Given the description of an element on the screen output the (x, y) to click on. 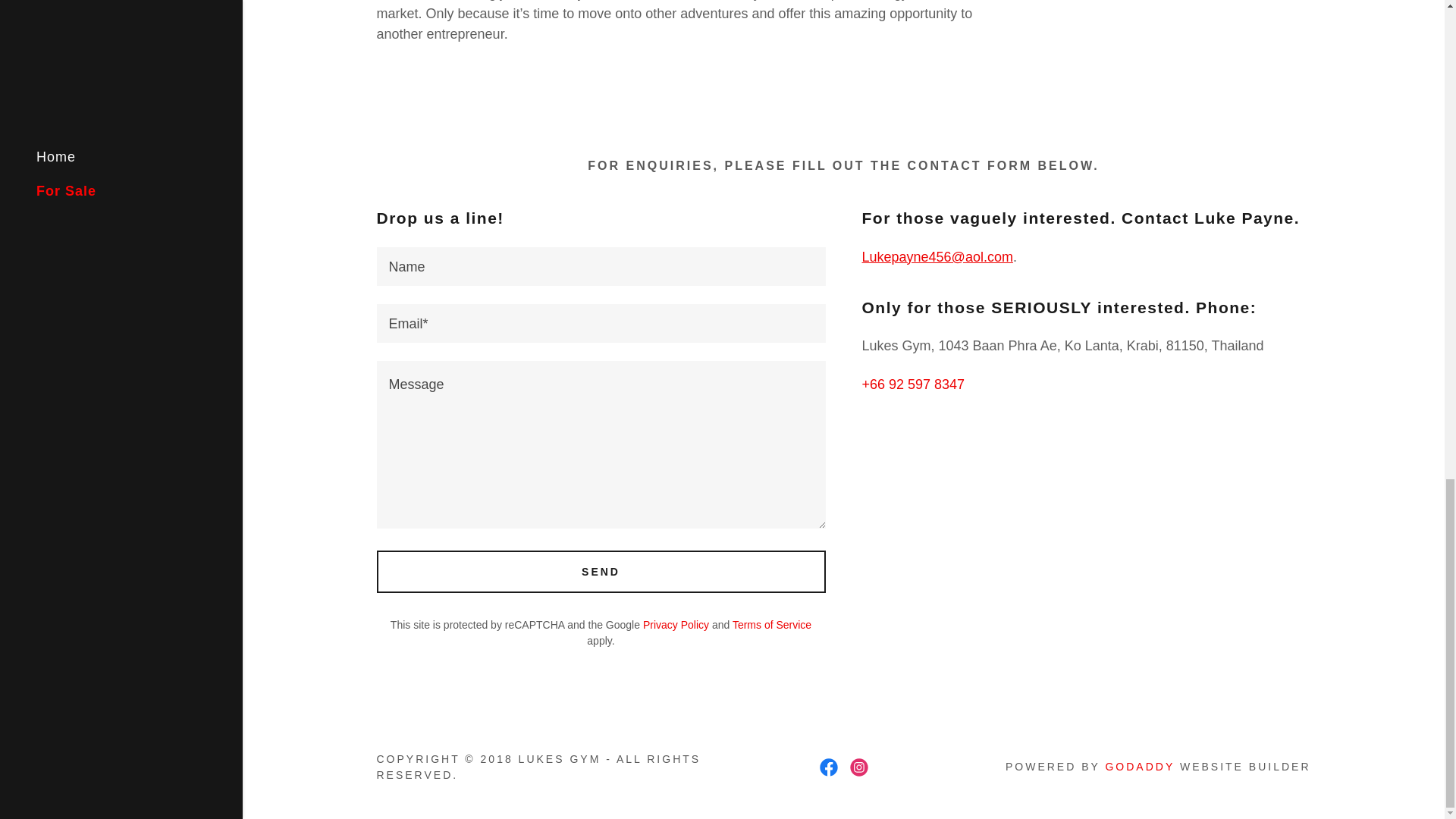
Terms of Service (771, 623)
GODADDY (1139, 766)
SEND (600, 570)
Privacy Policy (676, 623)
